Given the description of an element on the screen output the (x, y) to click on. 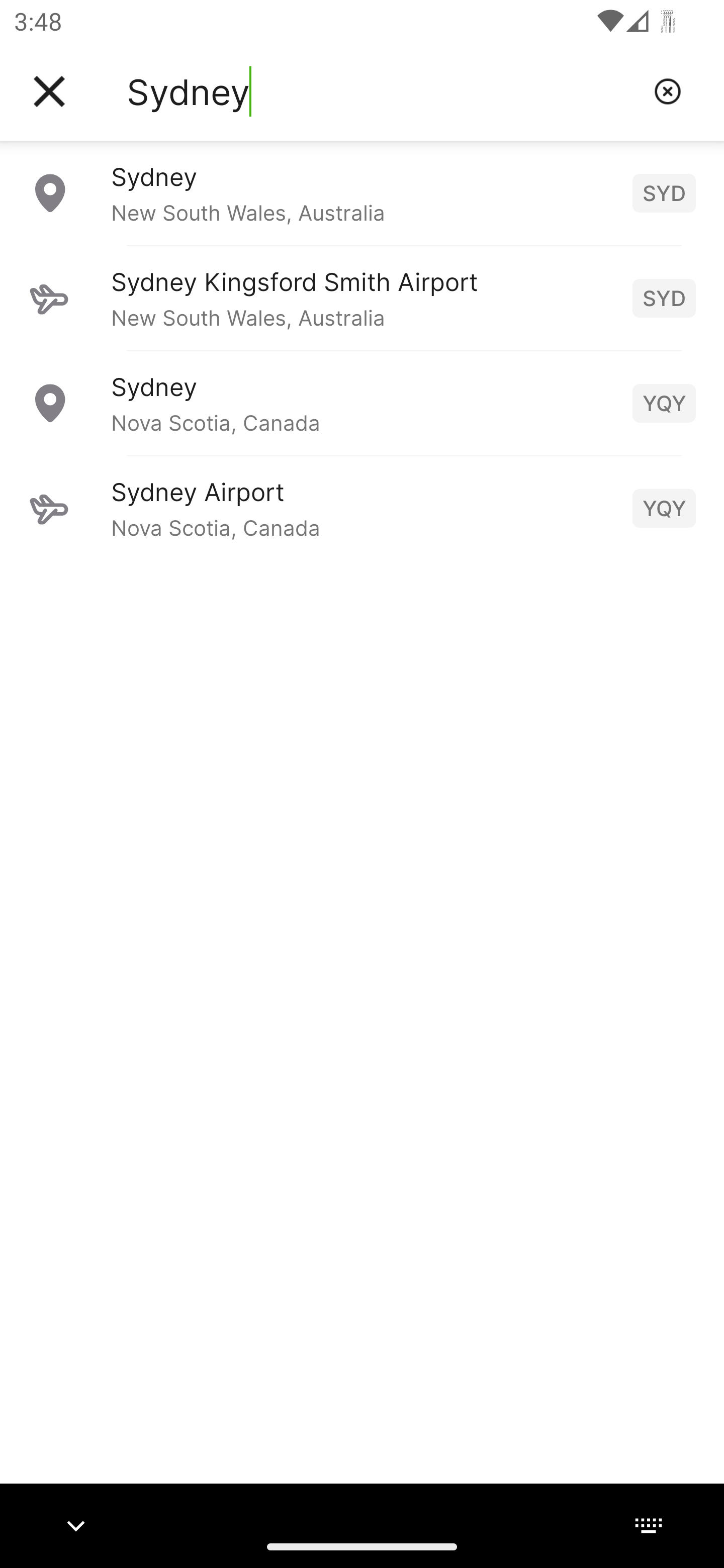
Sydney (382, 91)
Sydney New South Wales, Australia SYD (362, 192)
Sydney Nova Scotia, Canada YQY (362, 402)
Sydney Airport Nova Scotia, Canada YQY (362, 507)
